Given the description of an element on the screen output the (x, y) to click on. 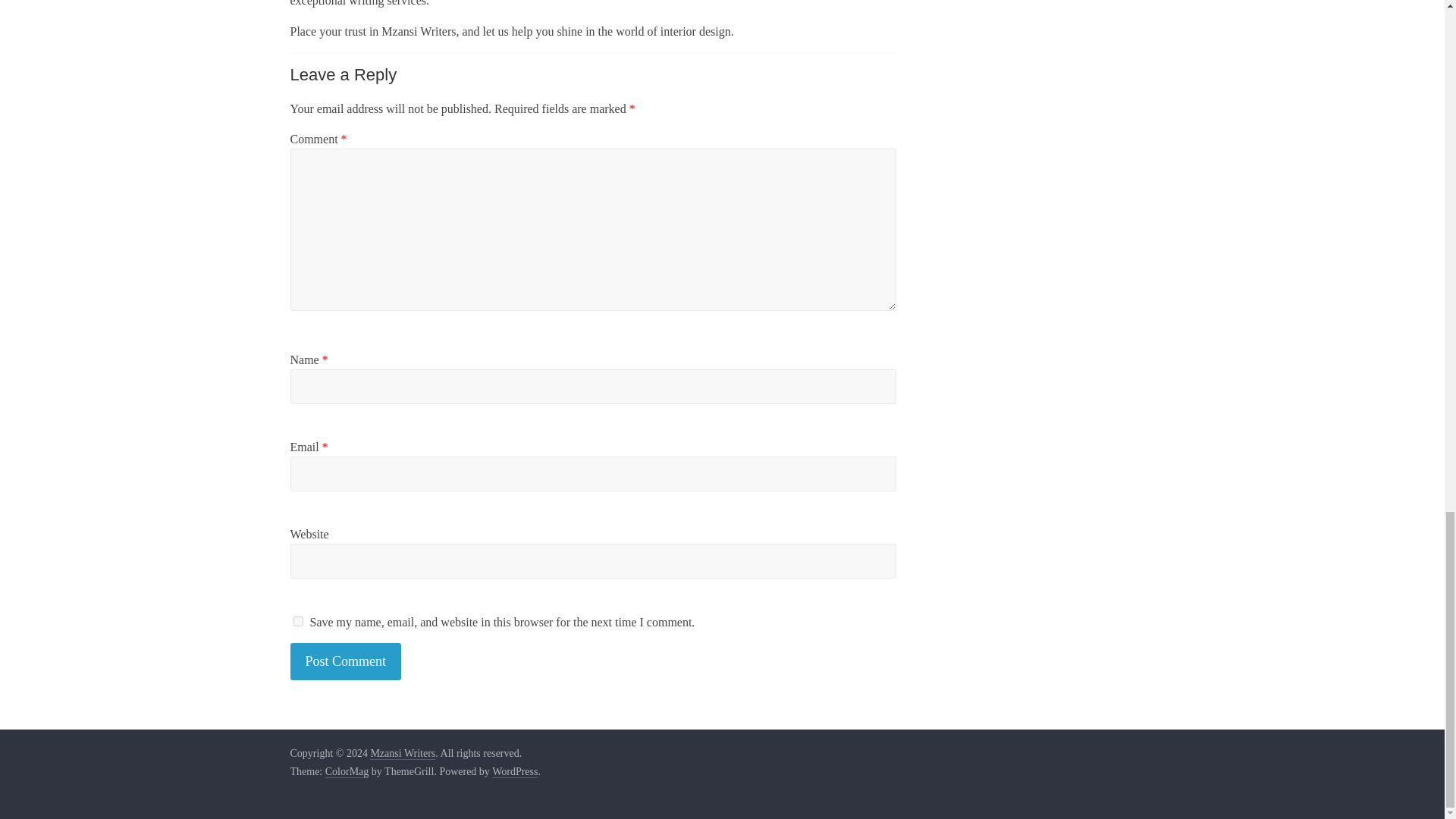
yes (297, 621)
Post Comment (345, 661)
ColorMag (346, 771)
WordPress (514, 771)
Mzansi Writers (402, 753)
Post Comment (345, 661)
